Given the description of an element on the screen output the (x, y) to click on. 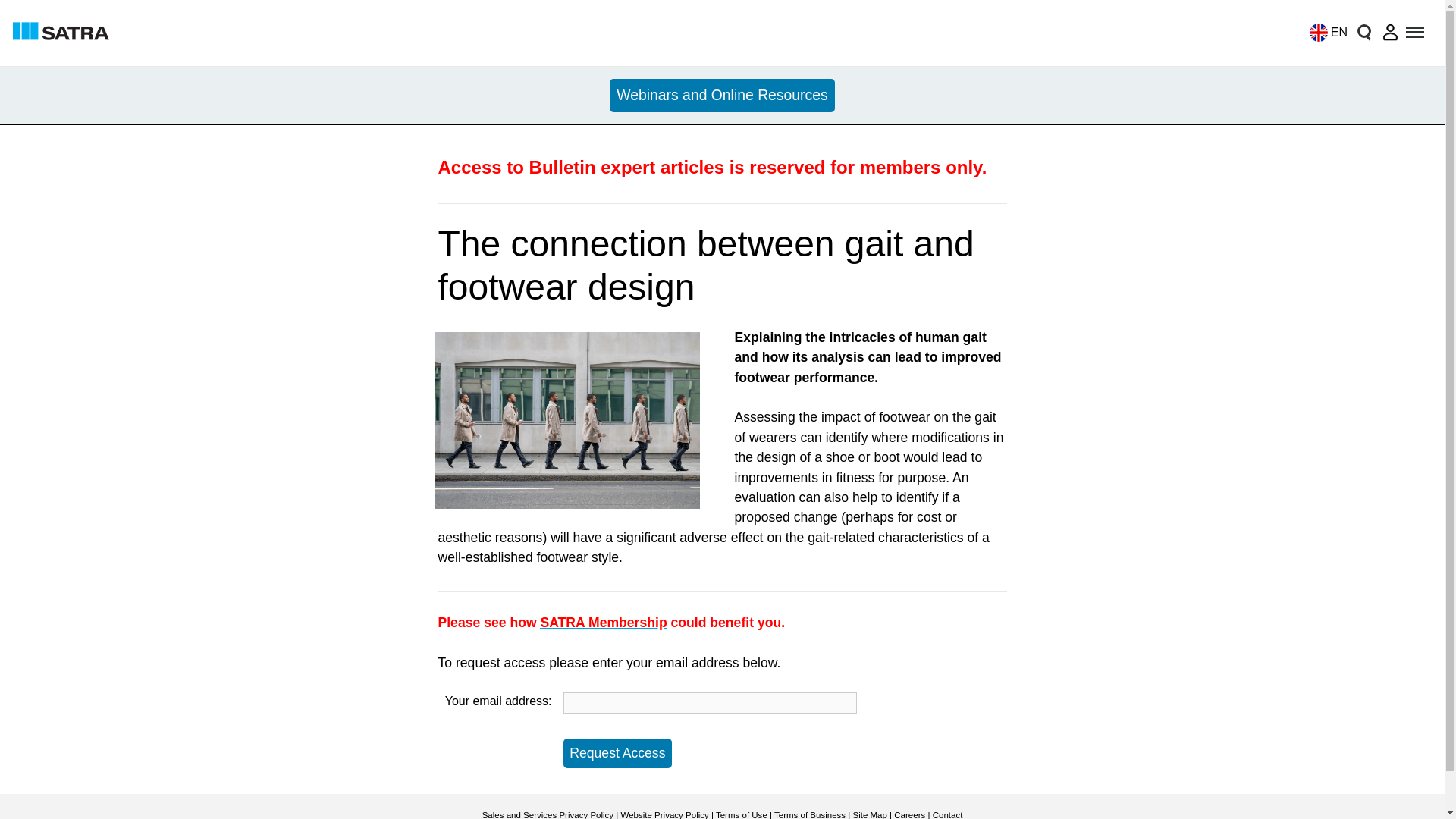
Webinars and Online Resources (722, 95)
SATRA Membership (603, 622)
Change language (1324, 32)
Navigation menu (1415, 32)
Request Access (616, 753)
Search this site (1363, 32)
EN (1324, 32)
